Given the description of an element on the screen output the (x, y) to click on. 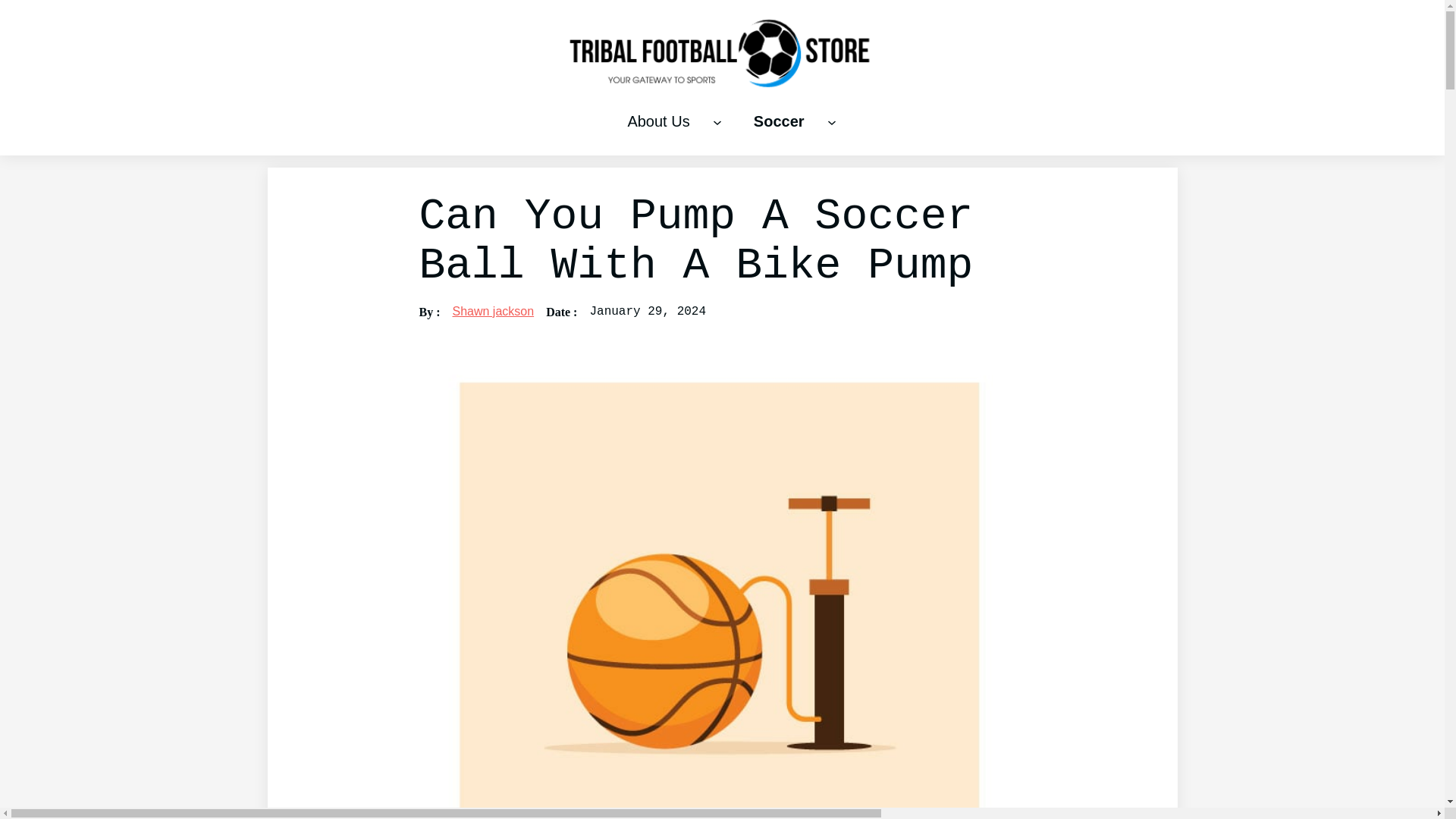
Soccer (778, 121)
Shawn jackson (492, 310)
About Us (658, 121)
